Given the description of an element on the screen output the (x, y) to click on. 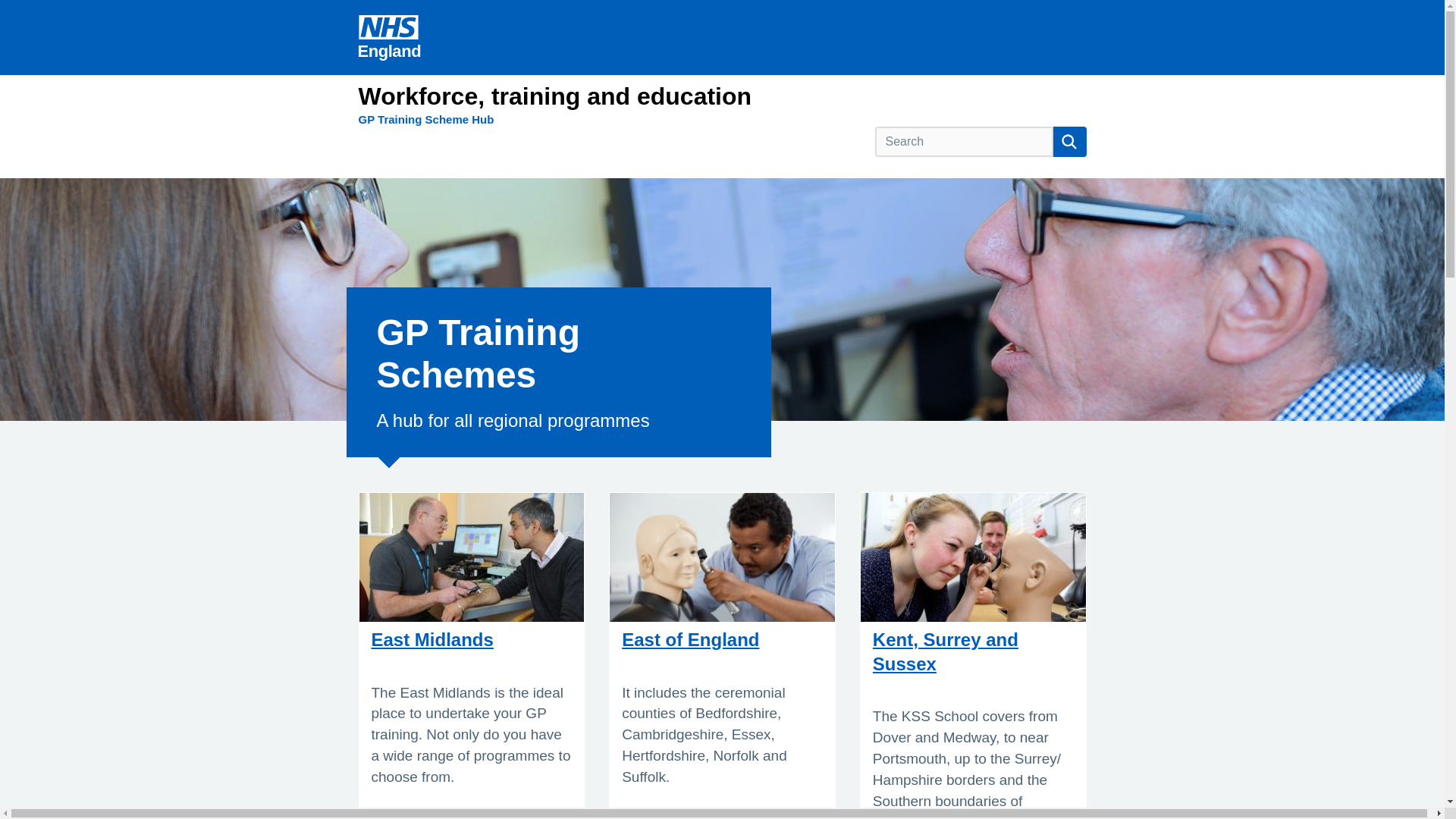
Workforce, training and education (554, 95)
England (389, 37)
Search (1069, 141)
NHS England (389, 37)
GP Training Scheme Hub (425, 119)
